Given the description of an element on the screen output the (x, y) to click on. 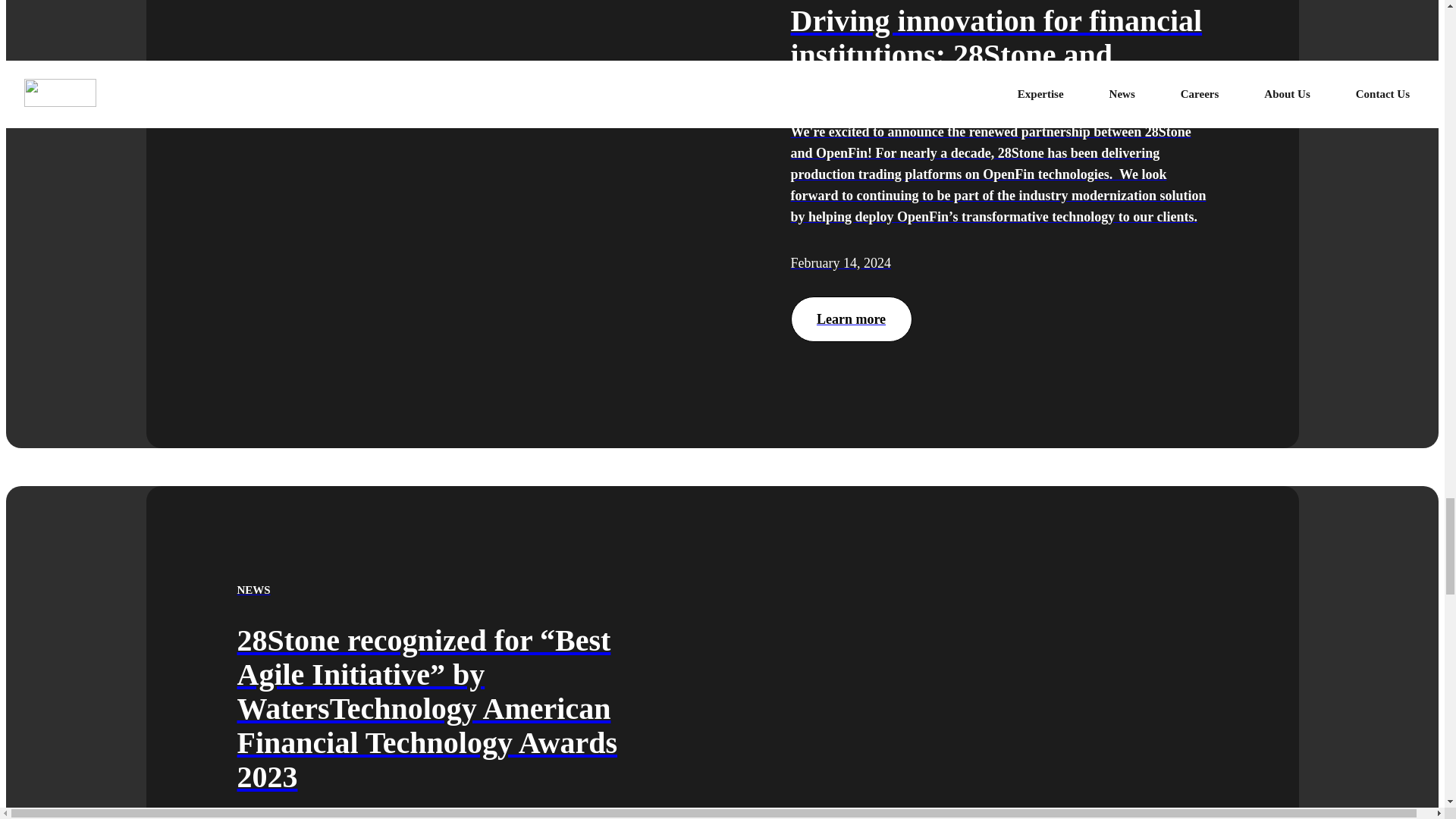
Learn more (850, 319)
